Given the description of an element on the screen output the (x, y) to click on. 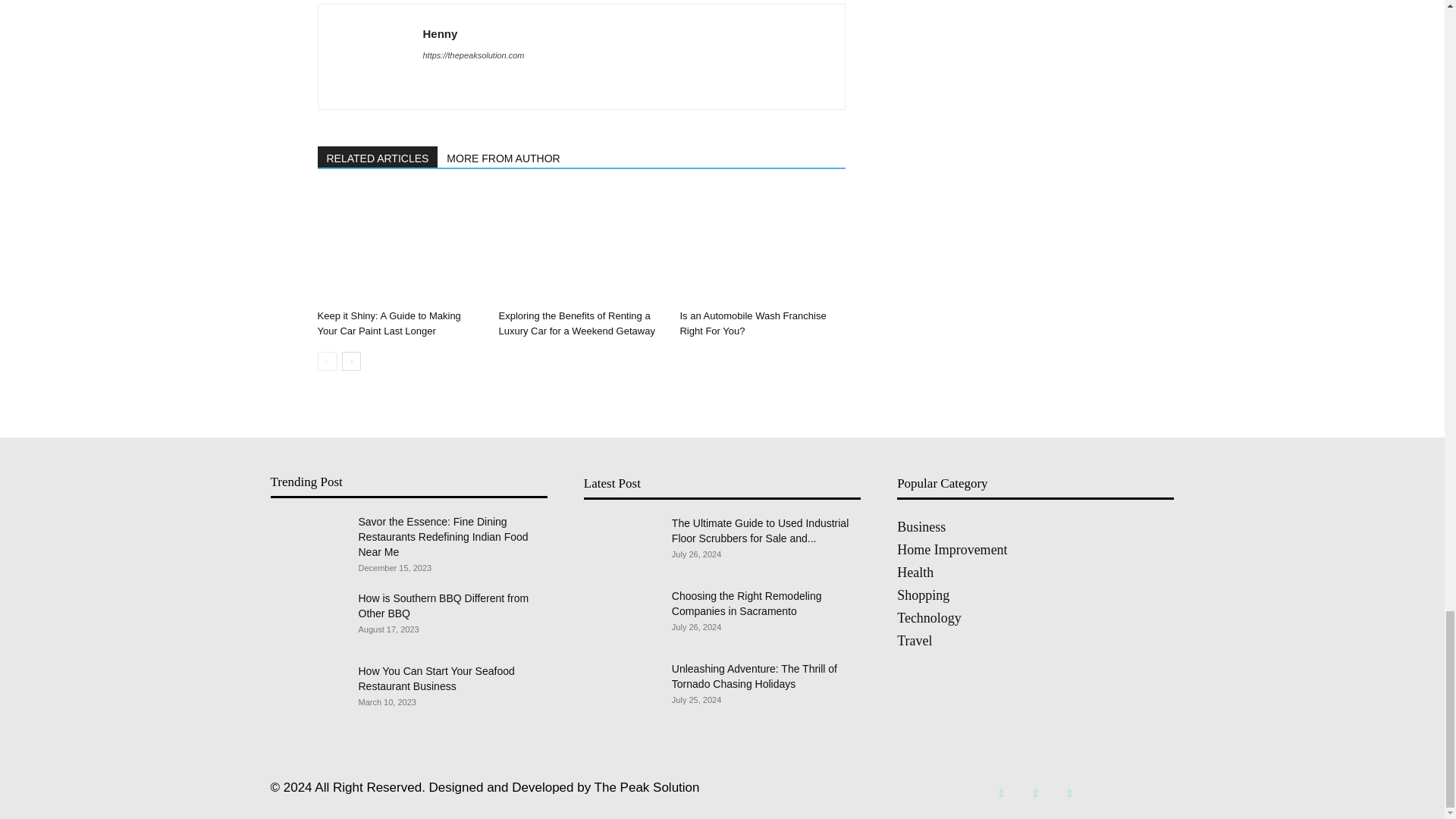
Keep it Shiny: A Guide to Making Your Car Paint Last Longer (399, 246)
Keep it Shiny: A Guide to Making Your Car Paint Last Longer (388, 323)
